Given the description of an element on the screen output the (x, y) to click on. 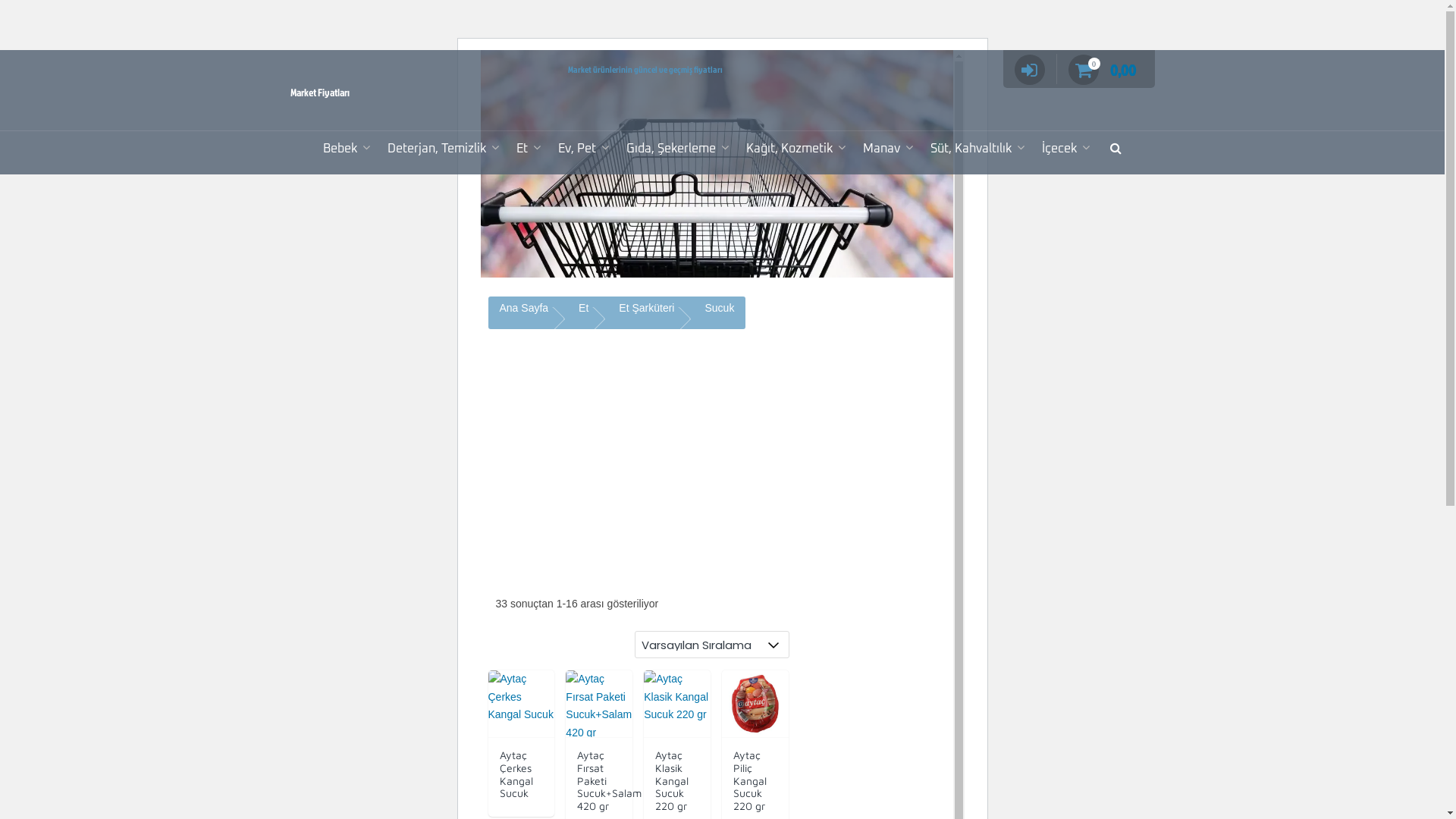
Advertisement Element type: hover (642, 451)
Skip to content Element type: text (479, 49)
Et Element type: text (583, 307)
Manav Element type: text (885, 148)
Et Element type: text (525, 148)
Deterjan, Temizlik Element type: text (440, 148)
Ev, Pet Element type: text (580, 148)
Bebek Element type: text (343, 148)
Ana Sayfa Element type: text (523, 307)
